Given the description of an element on the screen output the (x, y) to click on. 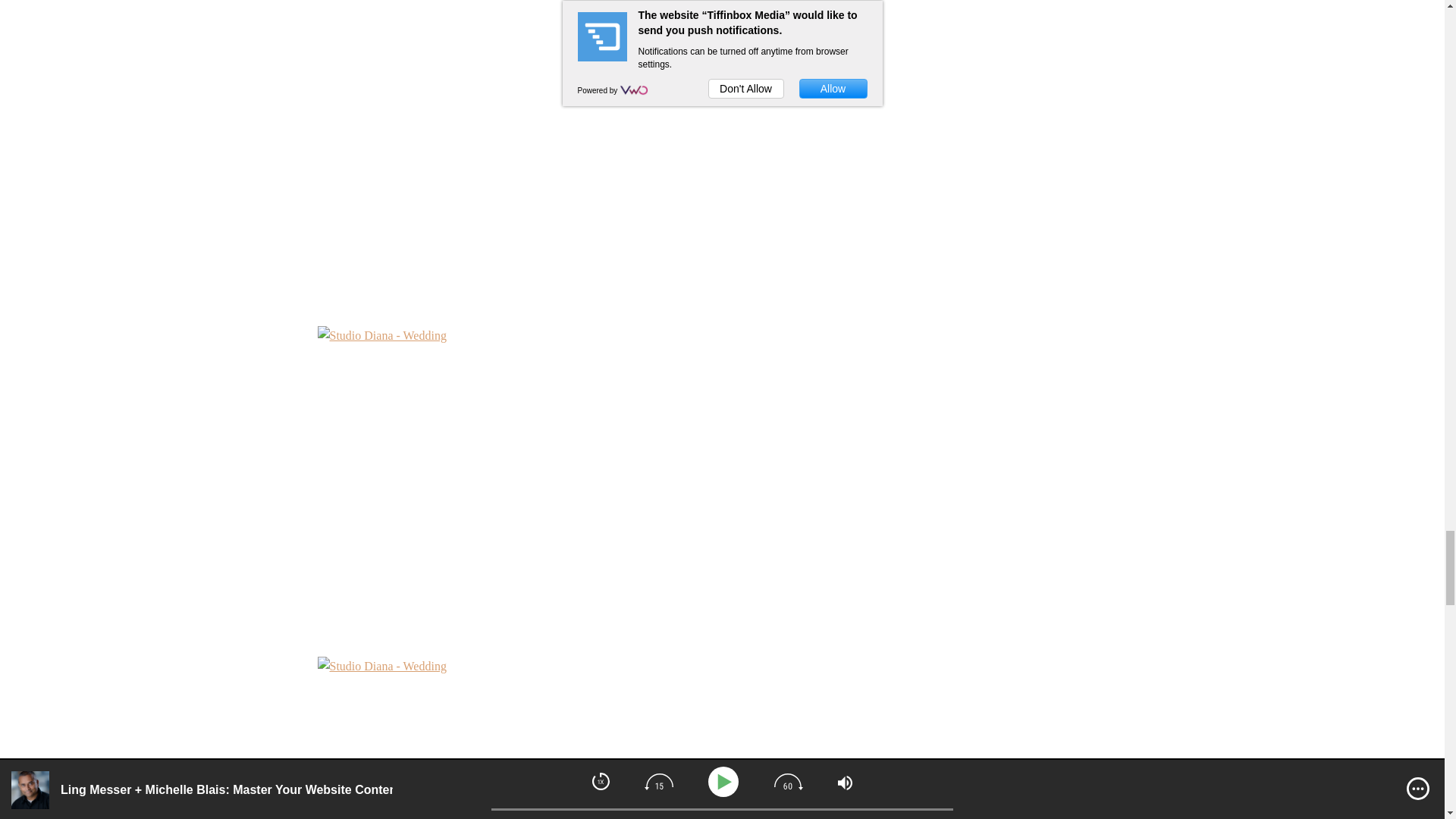
Studio Diana - Wedding (582, 737)
